Given the description of an element on the screen output the (x, y) to click on. 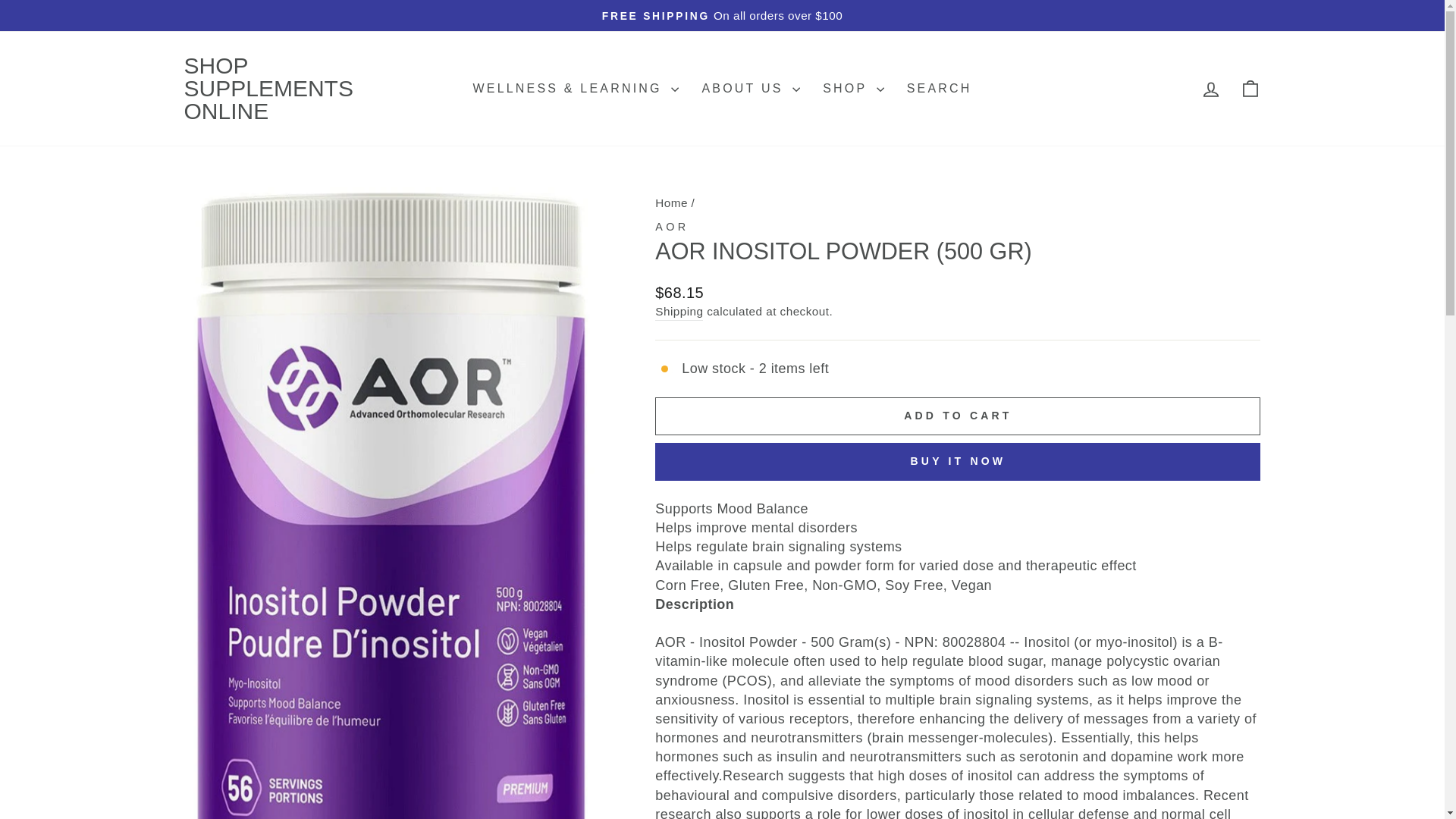
ICON-BAG-MINIMAL (1249, 88)
SEARCH (1249, 88)
AOR (939, 89)
Home (671, 226)
Back to the frontpage (1210, 88)
ACCOUNT (671, 202)
SHOP SUPPLEMENTS ONLINE (671, 202)
